Given the description of an element on the screen output the (x, y) to click on. 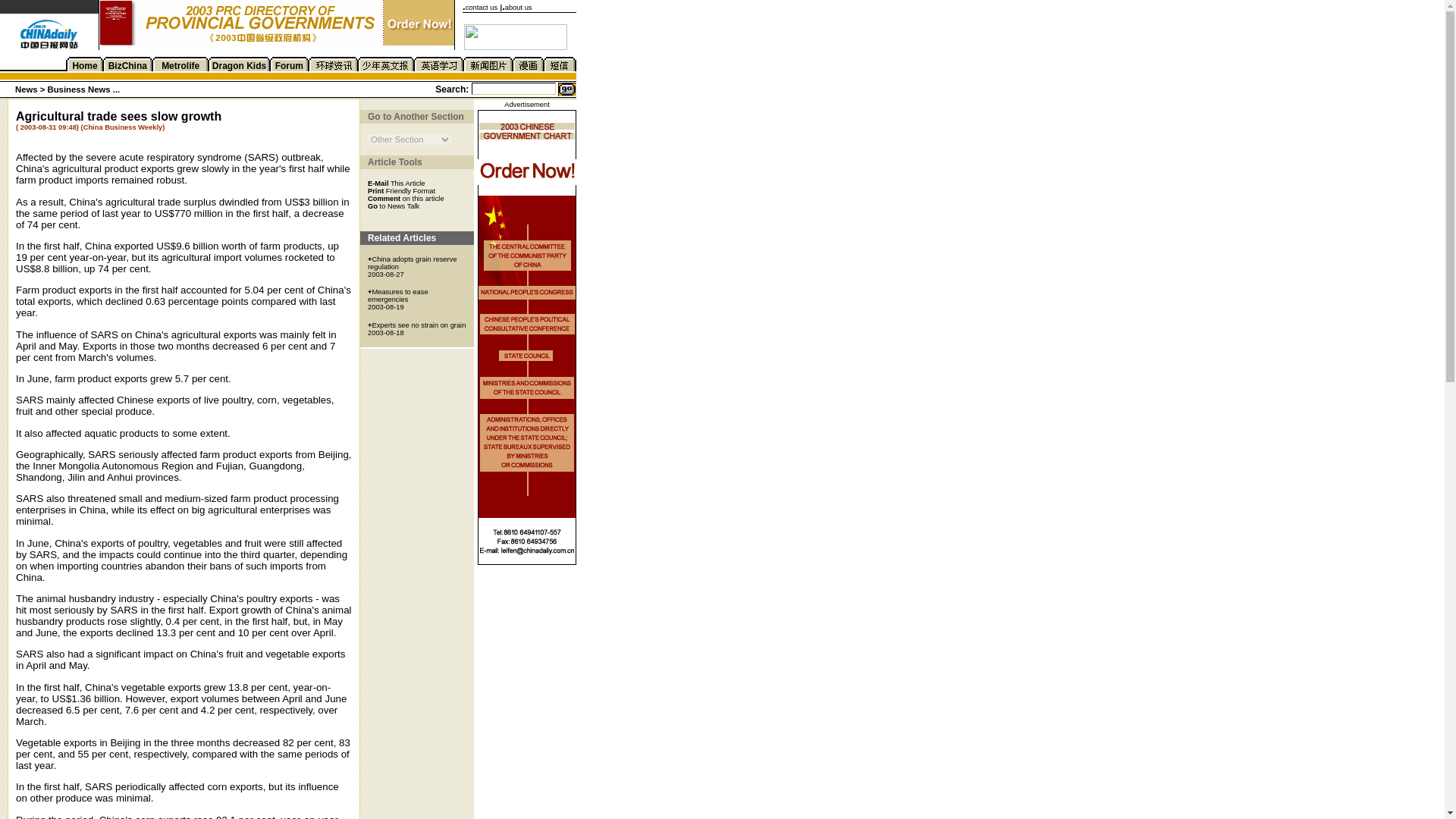
BizChina (127, 65)
Measures to ease emergencies (398, 295)
News (27, 89)
Metrolife (180, 65)
Go to News Talk (393, 204)
Print Friendly Format (401, 190)
contact us (481, 7)
Comment on this article (406, 197)
about us (518, 7)
Experts see no strain on grain (418, 325)
